Given the description of an element on the screen output the (x, y) to click on. 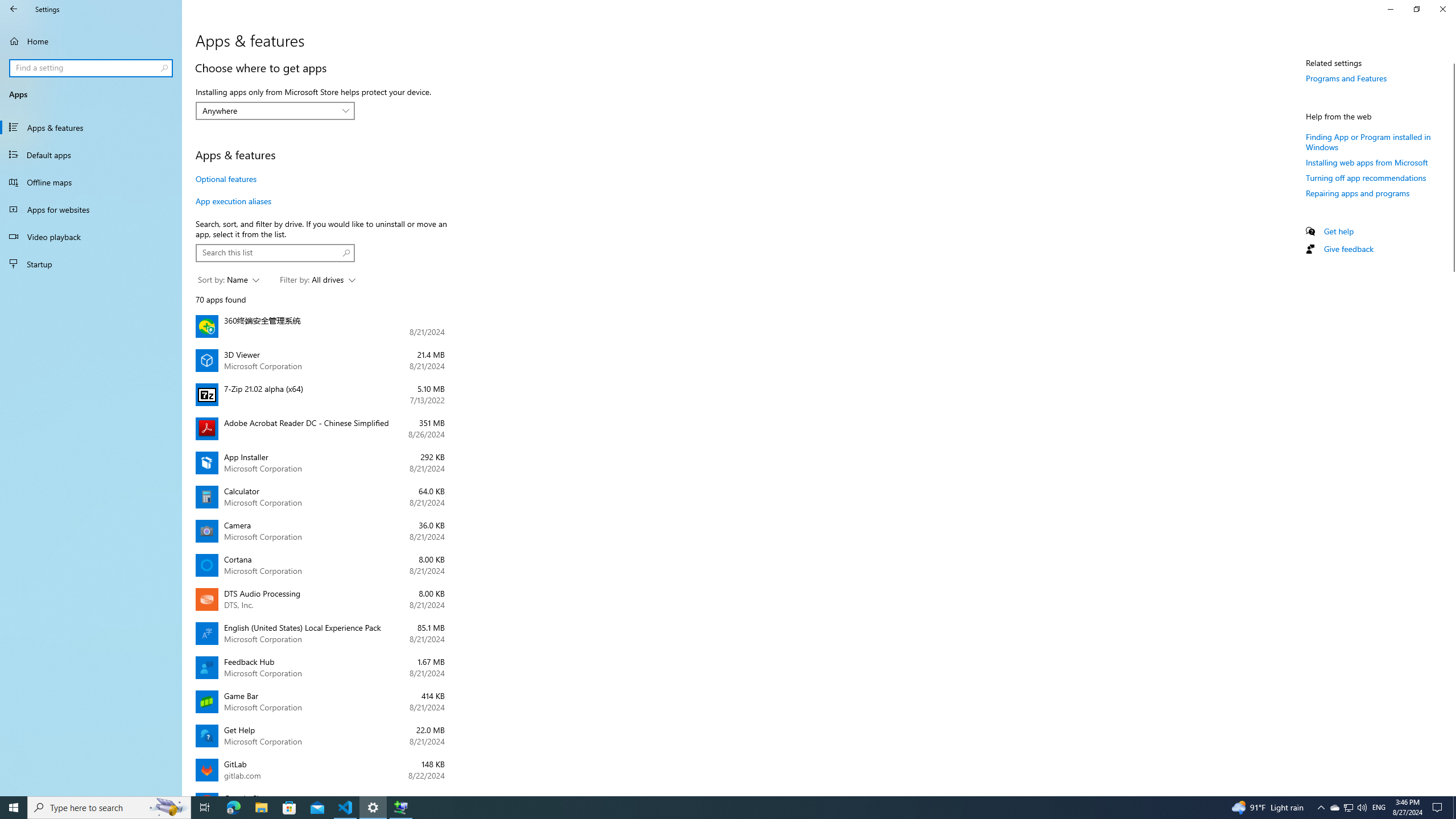
Microsoft Edge (233, 807)
Offline maps (91, 181)
Vertical Small Increase (1451, 791)
Finding App or Program installed in Windows (1368, 141)
Close Settings (1442, 9)
Tray Input Indicator - English (United States) (1378, 807)
Apps & features (91, 126)
Vertical (1451, 425)
Start (13, 807)
